Given the description of an element on the screen output the (x, y) to click on. 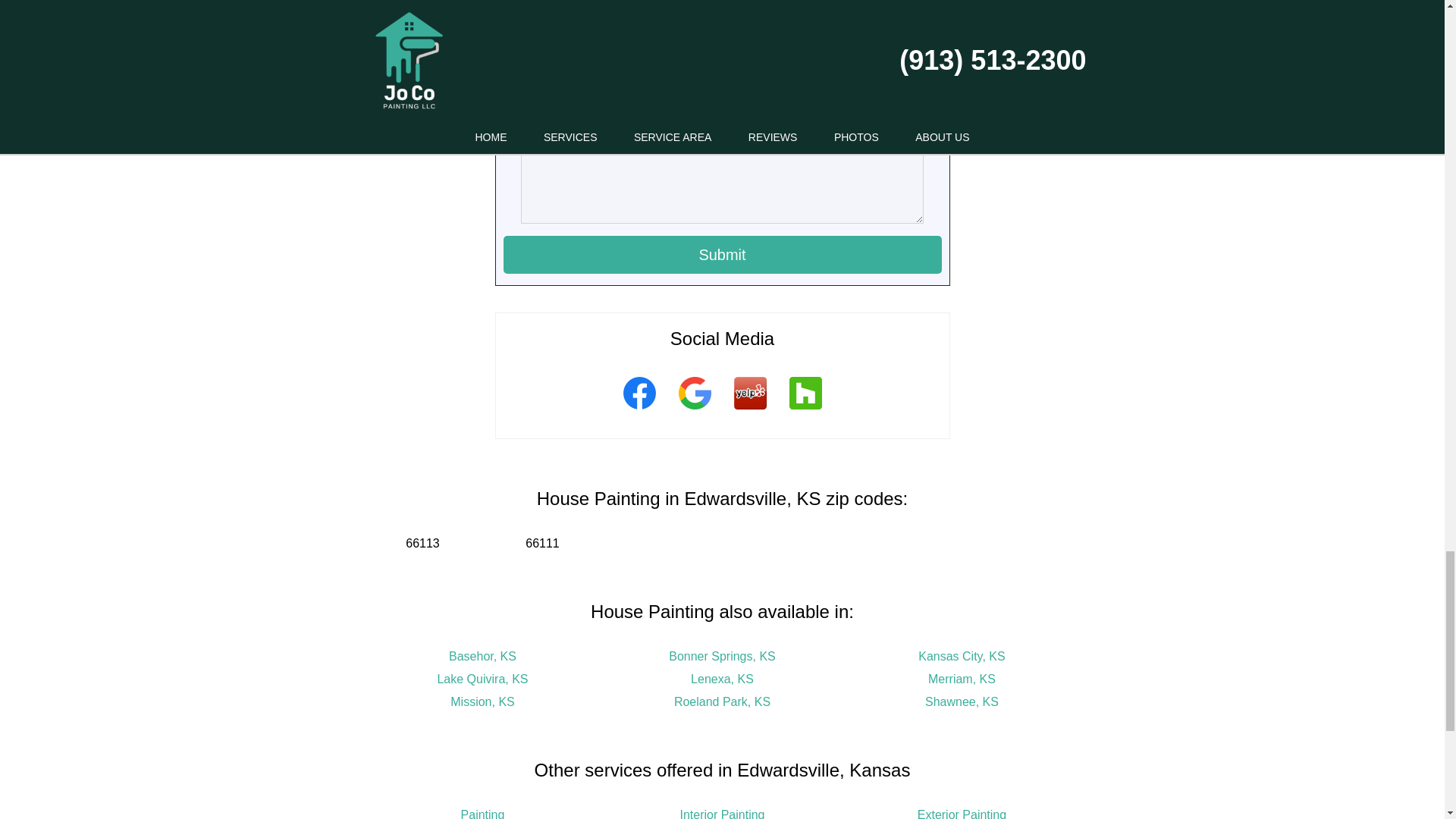
Facebook (638, 411)
Yelp (749, 411)
Google (694, 411)
Basehor, KS (482, 656)
Bonner Springs, KS (722, 656)
Merriam, KS (961, 678)
Kansas City, KS (961, 656)
Lake Quivira, KS (481, 678)
Houzz (804, 411)
Lenexa, KS (722, 678)
